Given the description of an element on the screen output the (x, y) to click on. 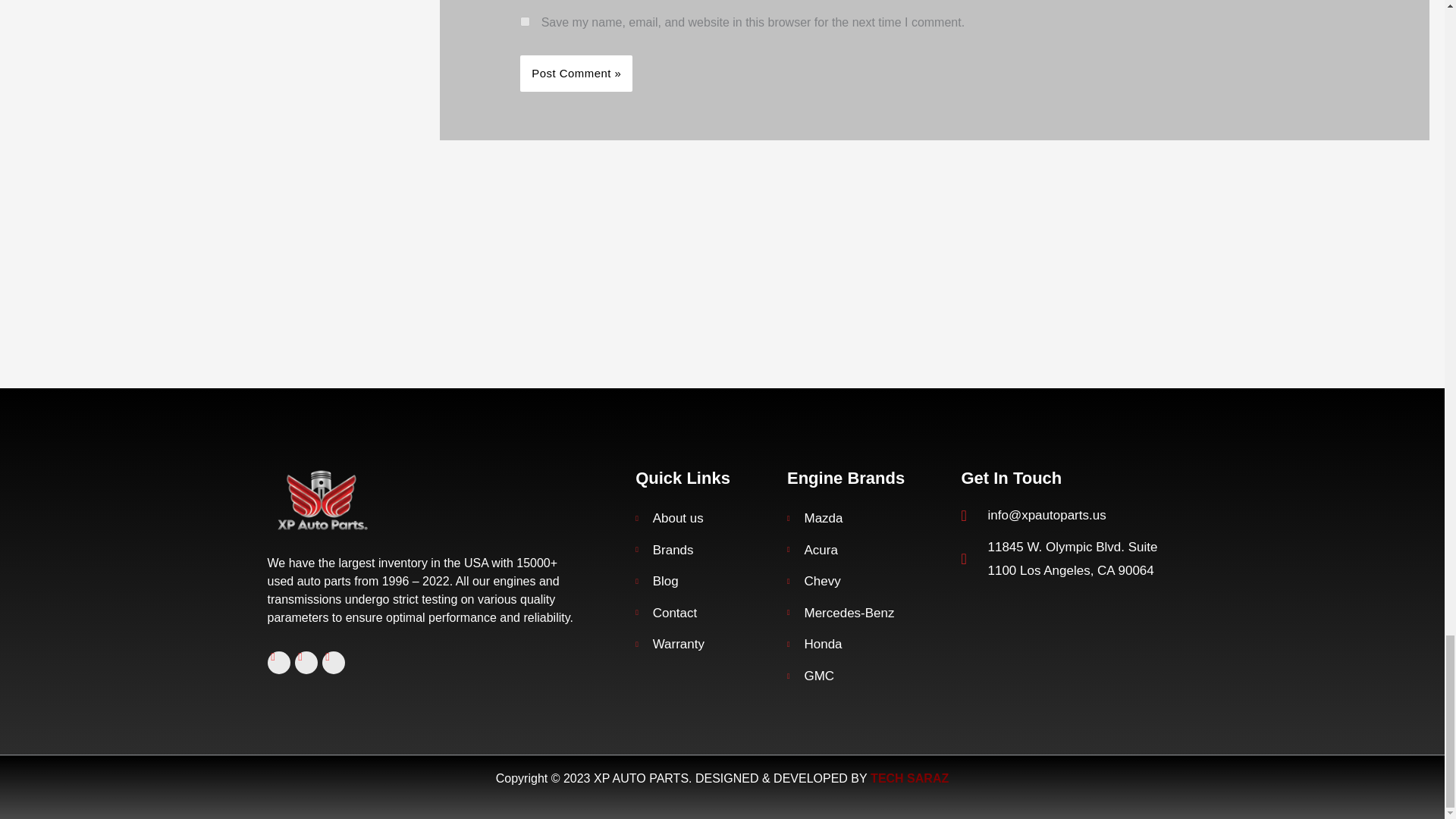
Facebook-f (277, 662)
About us (706, 518)
Youtube (332, 662)
Instagram (305, 662)
yes (524, 21)
Brands (706, 550)
